Given the description of an element on the screen output the (x, y) to click on. 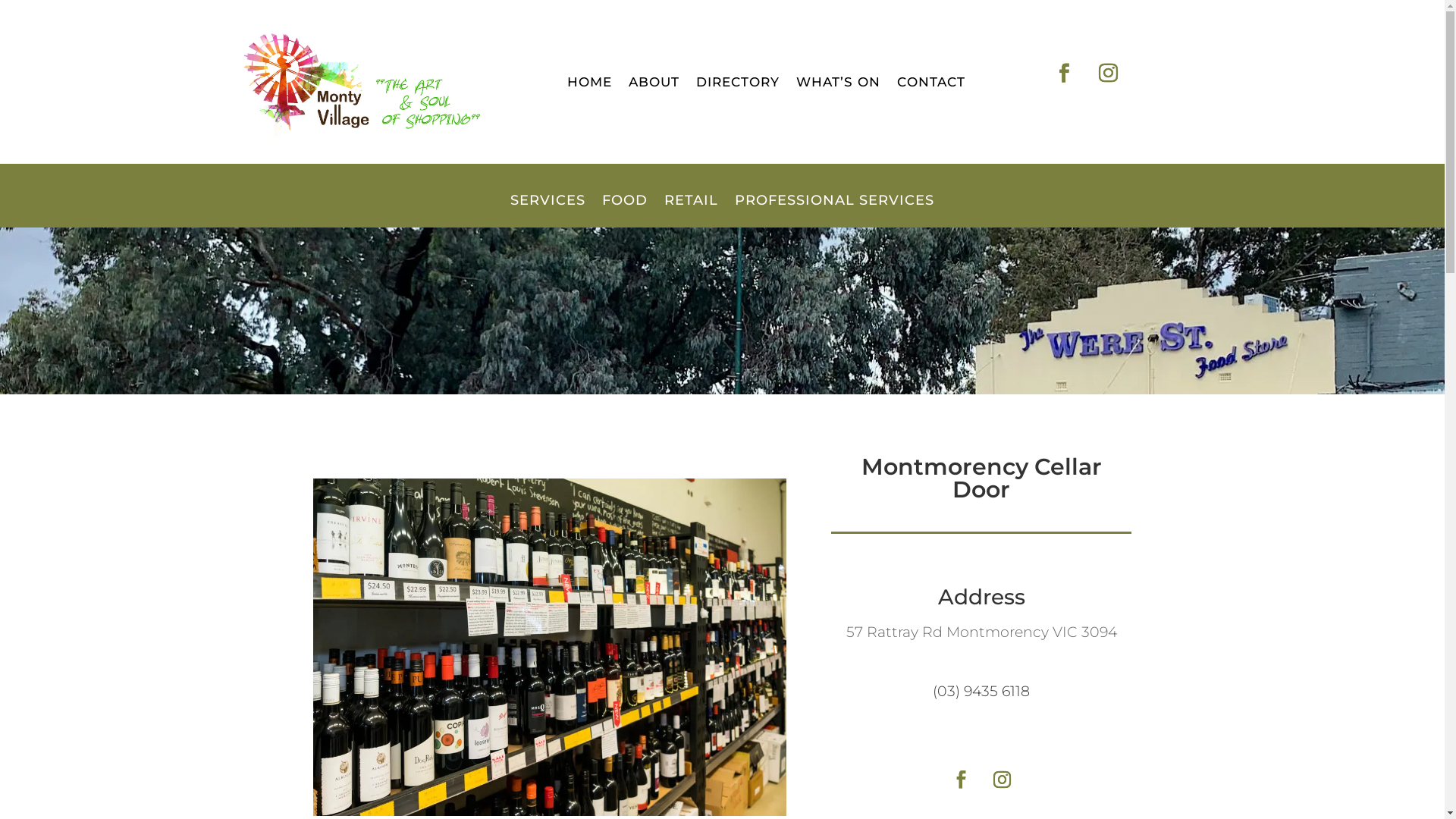
ABOUT Element type: text (652, 84)
SERVICES Element type: text (547, 210)
Follow on Facebook Element type: hover (1063, 73)
Follow on Instagram Element type: hover (1001, 779)
RETAIL Element type: text (691, 210)
CONTACT Element type: text (930, 84)
DIRECTORY Element type: text (737, 84)
PROFESSIONAL SERVICES Element type: text (834, 210)
Follow on Instagram Element type: hover (1107, 73)
Monty Shopping Village Element type: hover (357, 81)
Montmorency Cellar Door Element type: hover (548, 647)
FOOD Element type: text (624, 210)
Follow on Facebook Element type: hover (960, 779)
HOME Element type: text (589, 84)
